Given the description of an element on the screen output the (x, y) to click on. 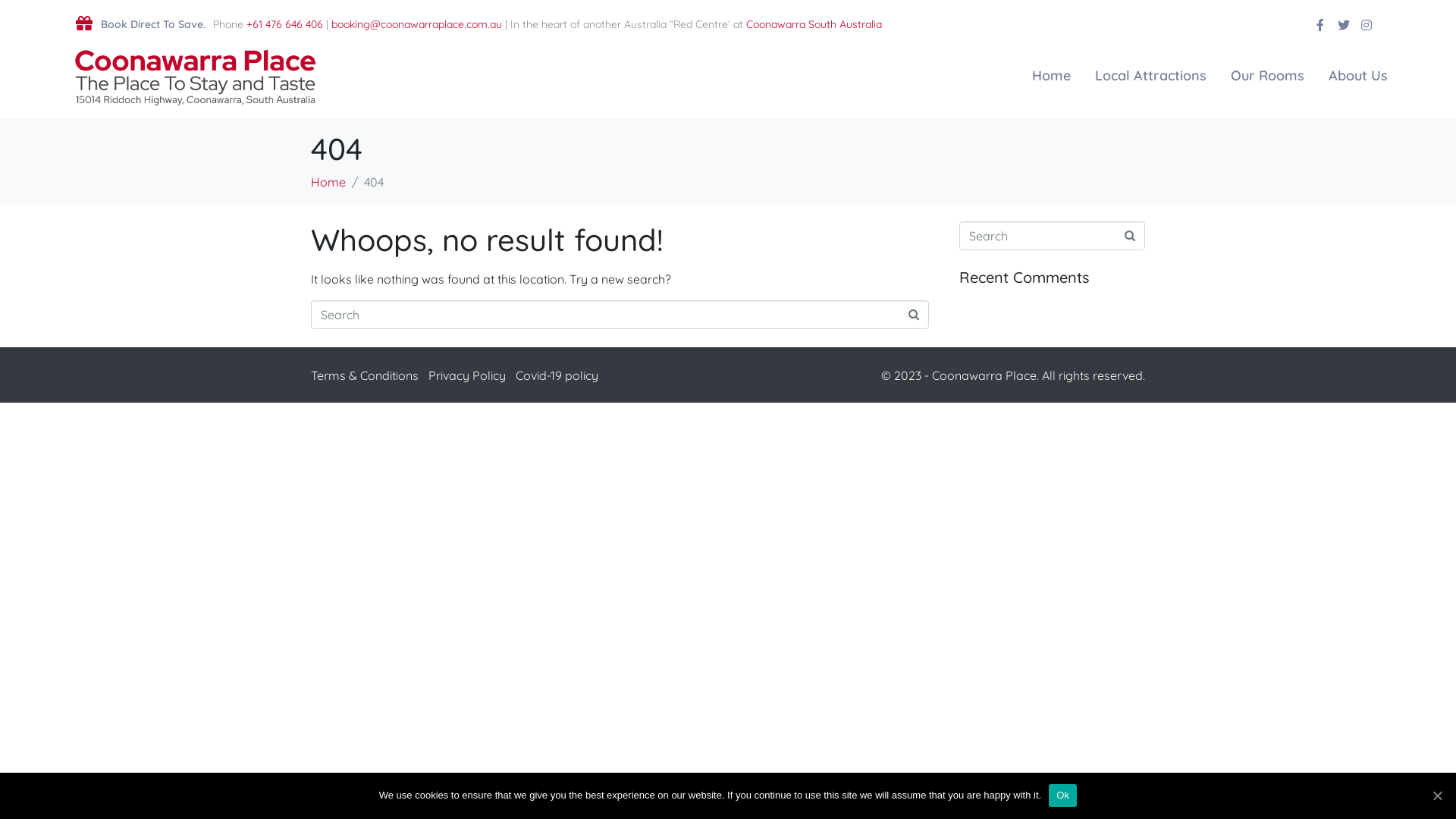
Local Attractions Element type: text (1150, 75)
Coonawarra South Australia Element type: text (813, 24)
About Us Element type: text (1357, 75)
Privacy Policy Element type: text (466, 374)
Terms & Conditions Element type: text (364, 374)
+61 476 646 406 Element type: text (283, 24)
booking@coonawarraplace.com.au Element type: text (415, 24)
Home Element type: text (1051, 75)
Home Element type: text (327, 181)
Our Rooms Element type: text (1267, 75)
Ok Element type: text (1062, 795)
Covid-19 policy Element type: text (556, 374)
